Given the description of an element on the screen output the (x, y) to click on. 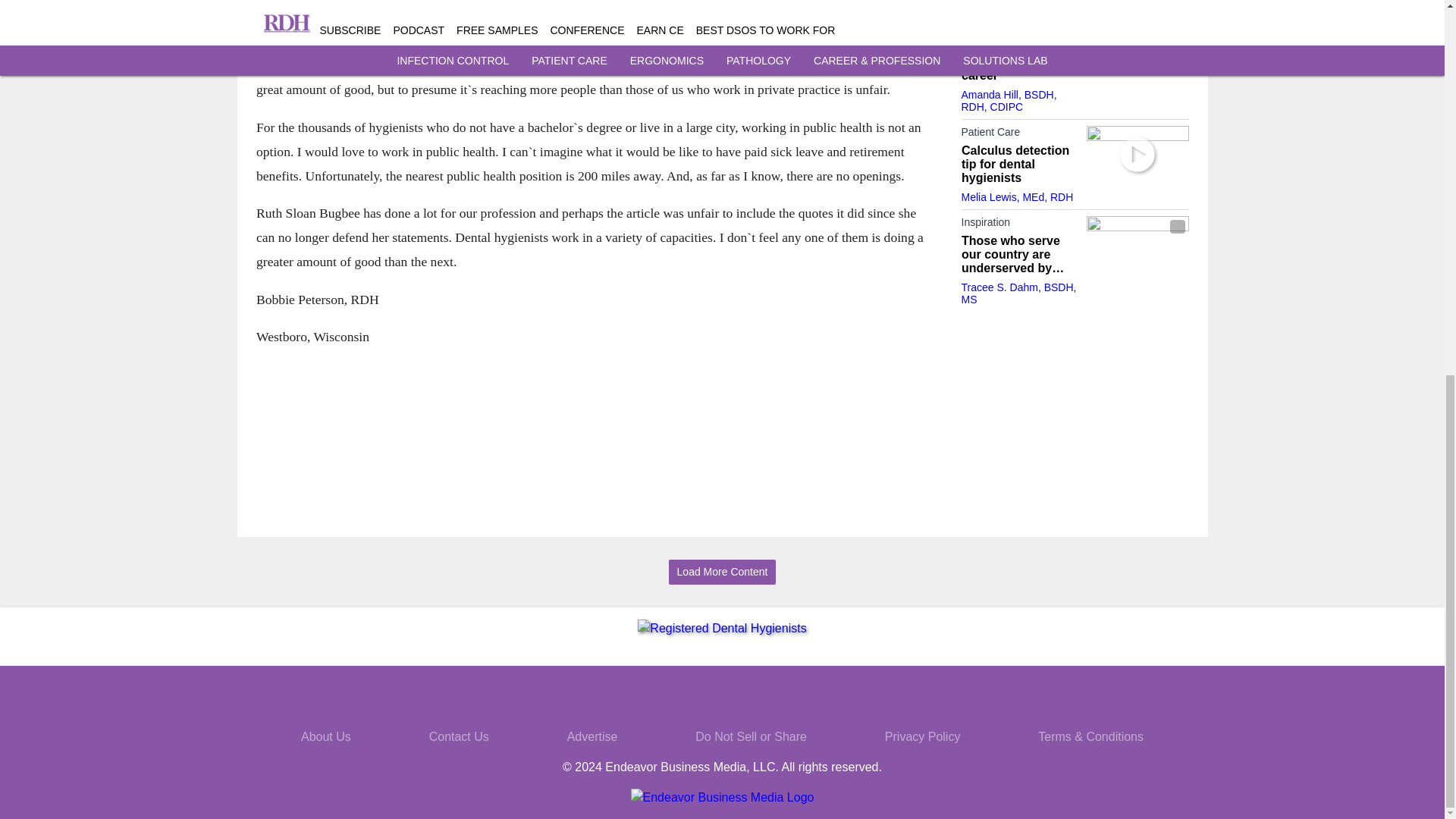
Patient Care (1019, 135)
Amanda Hill, BSDH, RDH, CDIPC (1008, 100)
RDH Magazine Podcast (1019, 32)
Stay curious in your dental hygiene career (1019, 61)
Calculus detection tip for dental hygienists (1019, 164)
